Given the description of an element on the screen output the (x, y) to click on. 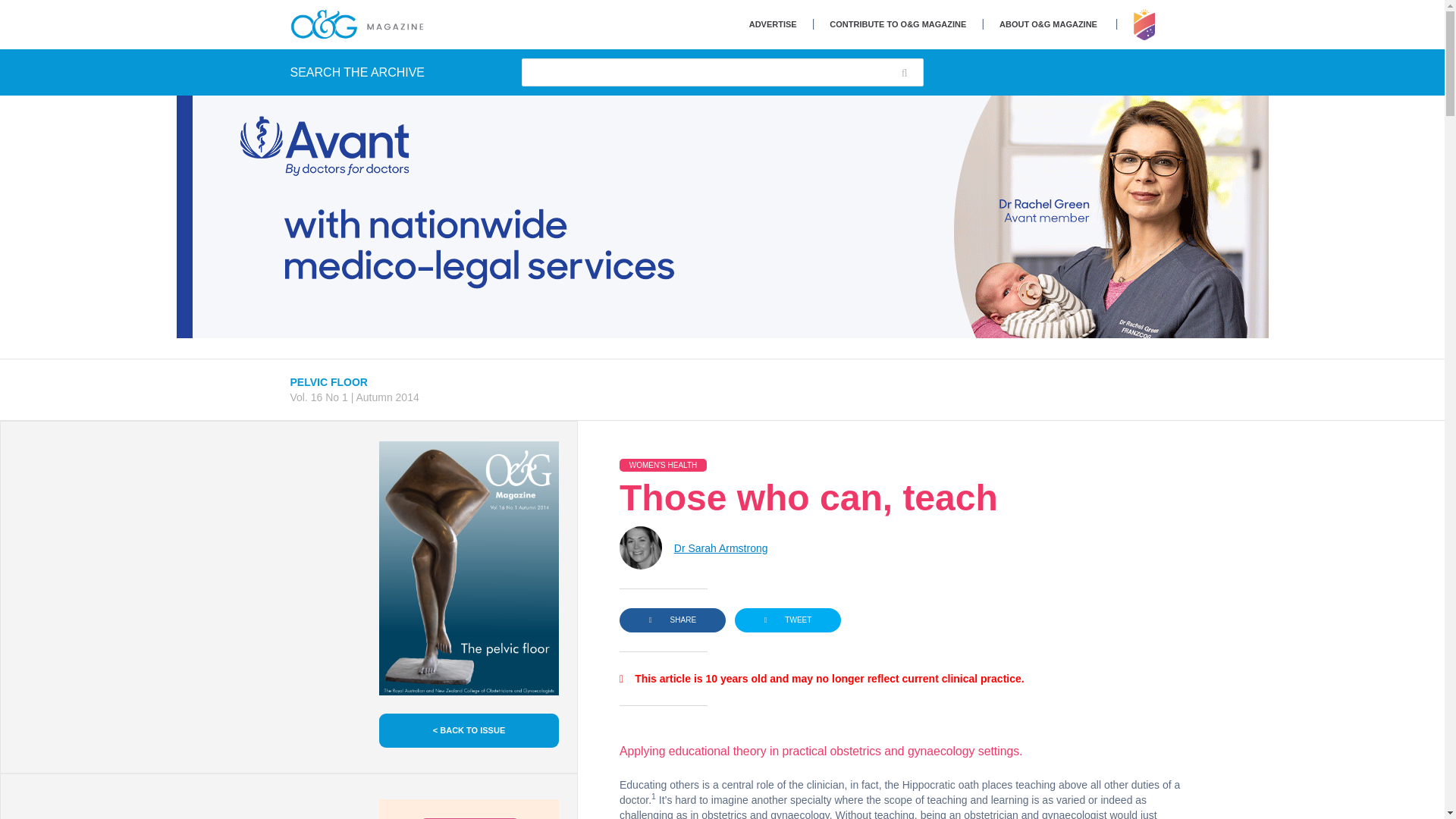
TWEET (788, 620)
ADVERTISE (772, 23)
SHARE (672, 620)
Dr Sarah Armstrong (721, 547)
